Given the description of an element on the screen output the (x, y) to click on. 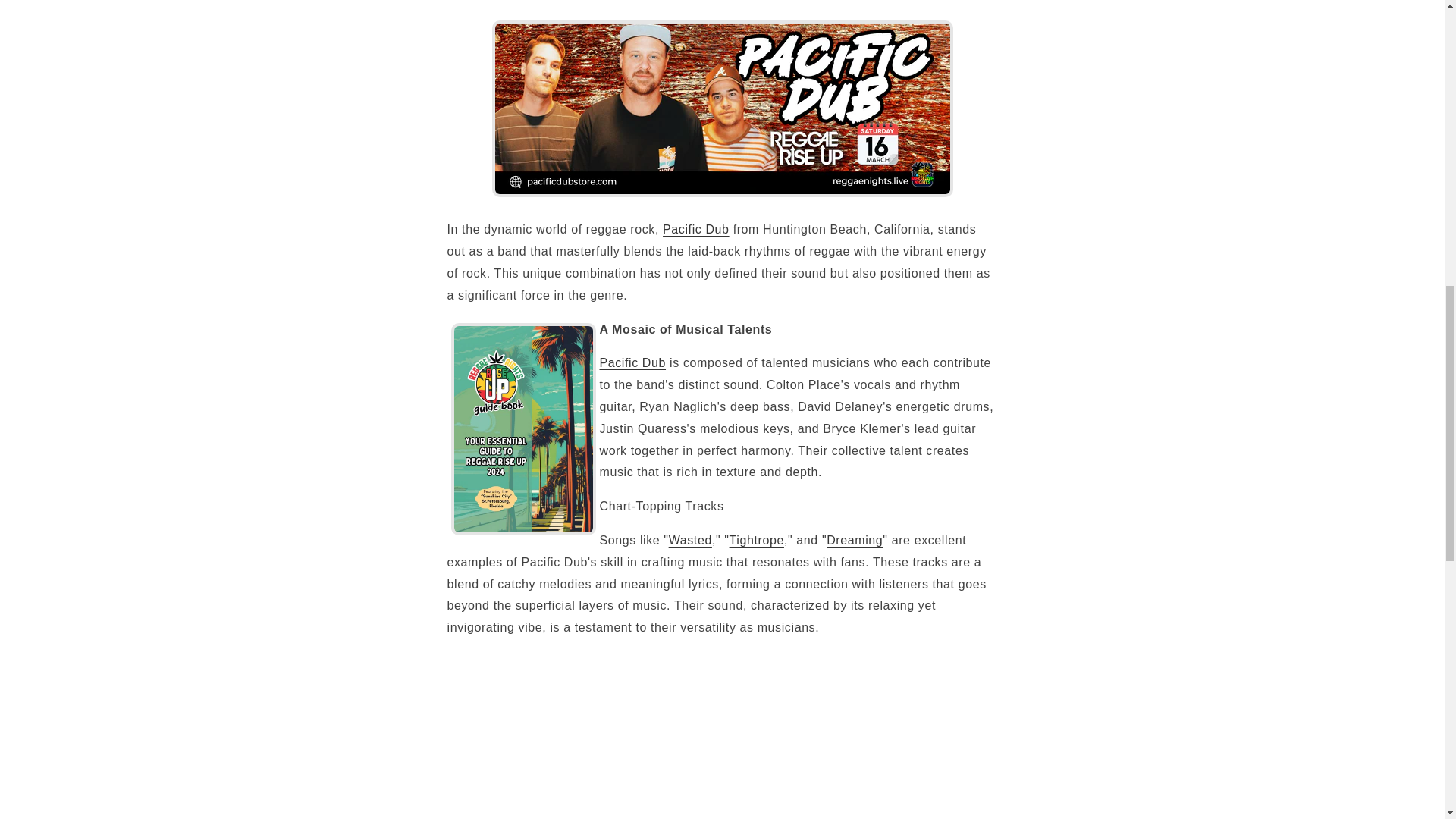
YouTube video player (659, 735)
Pacific Dub Youtube (631, 362)
Pacific Dub - Dreaming (854, 540)
Pacific Dub Facebook Page (695, 228)
